Given the description of an element on the screen output the (x, y) to click on. 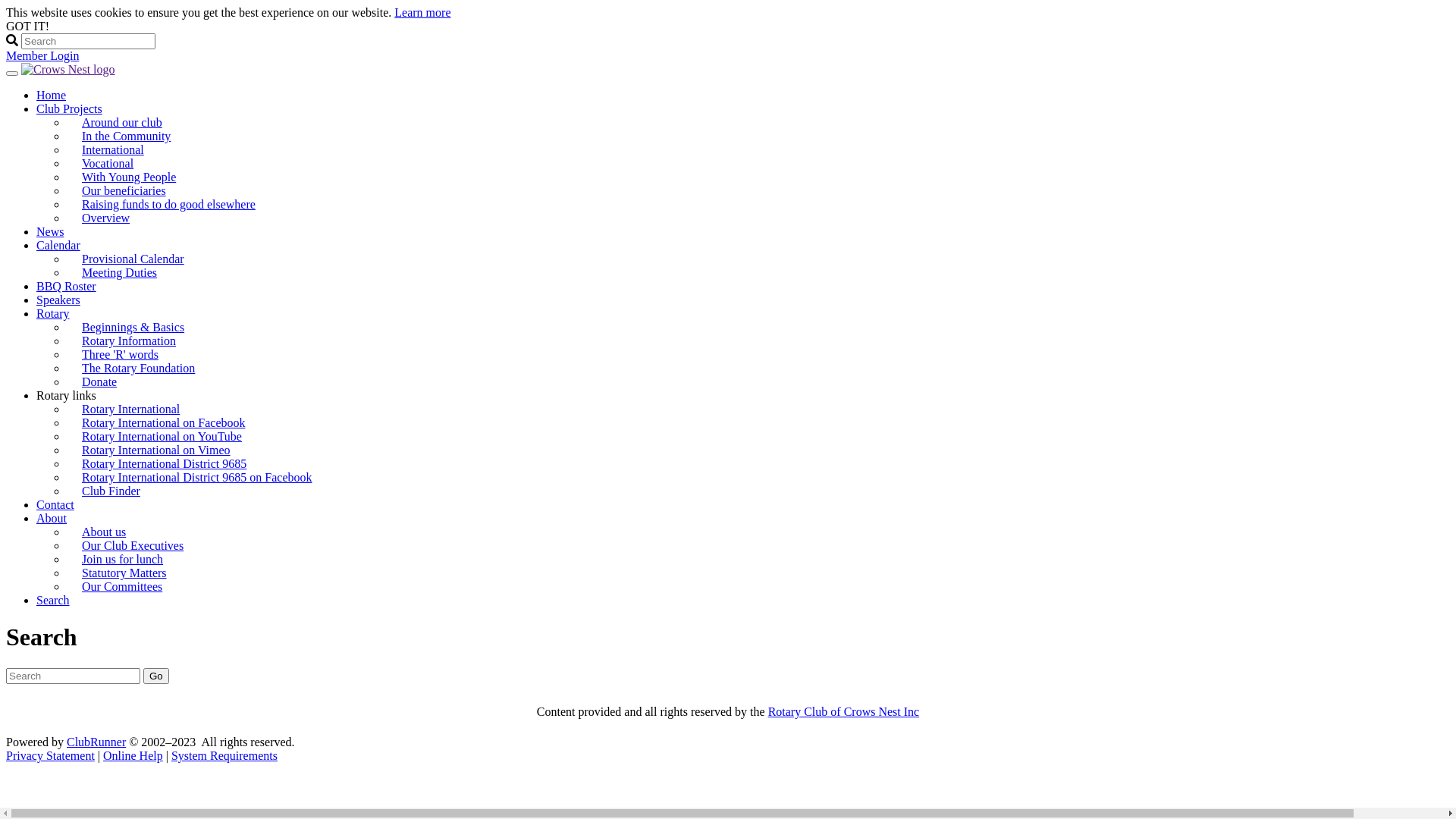
Statutory Matters Element type: text (124, 572)
Our Club Executives Element type: text (132, 545)
Join us for lunch Element type: text (122, 558)
Rotary Club of Crows Nest Inc Element type: text (843, 711)
In the Community Element type: text (125, 135)
Club Finder Element type: text (110, 490)
BBQ Roster Element type: text (66, 285)
ClubRunner Element type: text (95, 741)
Beginnings & Basics Element type: text (132, 326)
Rotary Element type: text (52, 313)
Online Help Element type: text (133, 755)
Toggle navigation Element type: text (12, 73)
Our beneficiaries Element type: text (123, 190)
System Requirements Element type: text (224, 755)
Calendar Element type: text (58, 244)
Around our club Element type: text (121, 122)
GOT IT! Element type: text (27, 25)
Member Login Element type: text (42, 55)
Privacy Statement Element type: text (50, 755)
Donate Element type: text (98, 381)
Our Committees Element type: text (121, 586)
Rotary International Element type: text (130, 408)
Rotary Information Element type: text (128, 340)
Rotary International on Facebook Element type: text (163, 422)
Overview Element type: text (105, 217)
Three 'R' words Element type: text (119, 354)
Club Projects Element type: text (69, 108)
Rotary International District 9685 on Facebook Element type: text (196, 477)
About us Element type: text (103, 531)
Search Element type: text (52, 599)
Rotary International District 9685 Element type: text (163, 463)
Vocational Element type: text (107, 163)
Rotary International on YouTube Element type: text (161, 436)
Rotary International on Vimeo Element type: text (155, 449)
Rotary links Element type: text (66, 395)
About Element type: text (51, 517)
With Young People Element type: text (128, 176)
The Rotary Foundation Element type: text (138, 367)
Provisional Calendar Element type: text (132, 258)
News Element type: text (49, 231)
Learn more Element type: text (422, 12)
Speakers Element type: text (58, 299)
International Element type: text (112, 149)
Go Element type: text (156, 676)
Raising funds to do good elsewhere Element type: text (174, 204)
Home Element type: text (50, 94)
Meeting Duties Element type: text (119, 272)
Contact Element type: text (55, 504)
